Given the description of an element on the screen output the (x, y) to click on. 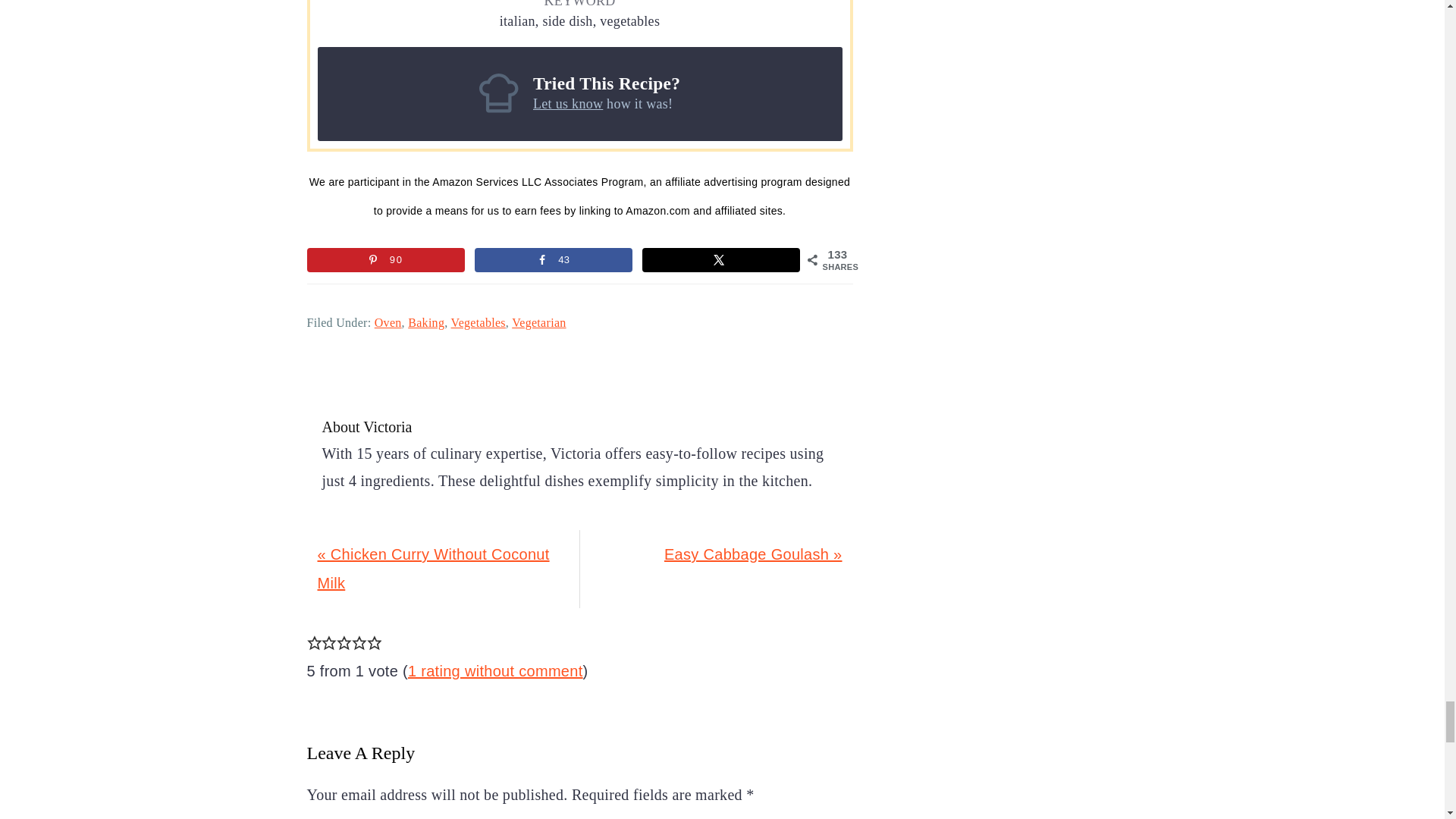
Save to Pinterest (384, 259)
Share on Facebook (552, 259)
Share on X (720, 259)
